Given the description of an element on the screen output the (x, y) to click on. 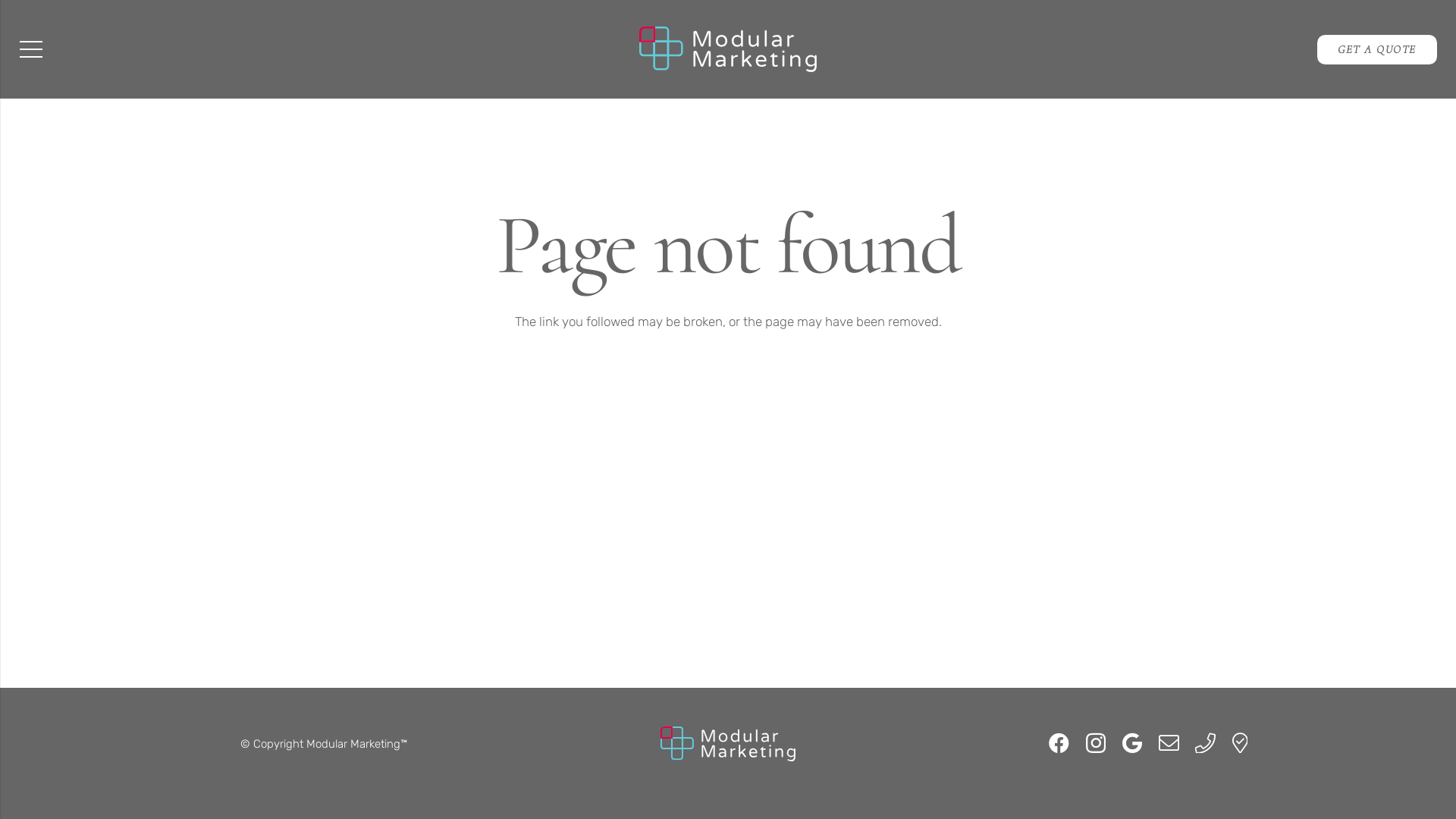
Facebook Element type: hover (1058, 742)
Title Element type: hover (1239, 742)
Google Element type: hover (1132, 742)
Email Element type: hover (1168, 742)
GET A QUOTE Element type: text (1377, 49)
Title Element type: hover (1205, 742)
Instagram Element type: hover (1095, 743)
